Given the description of an element on the screen output the (x, y) to click on. 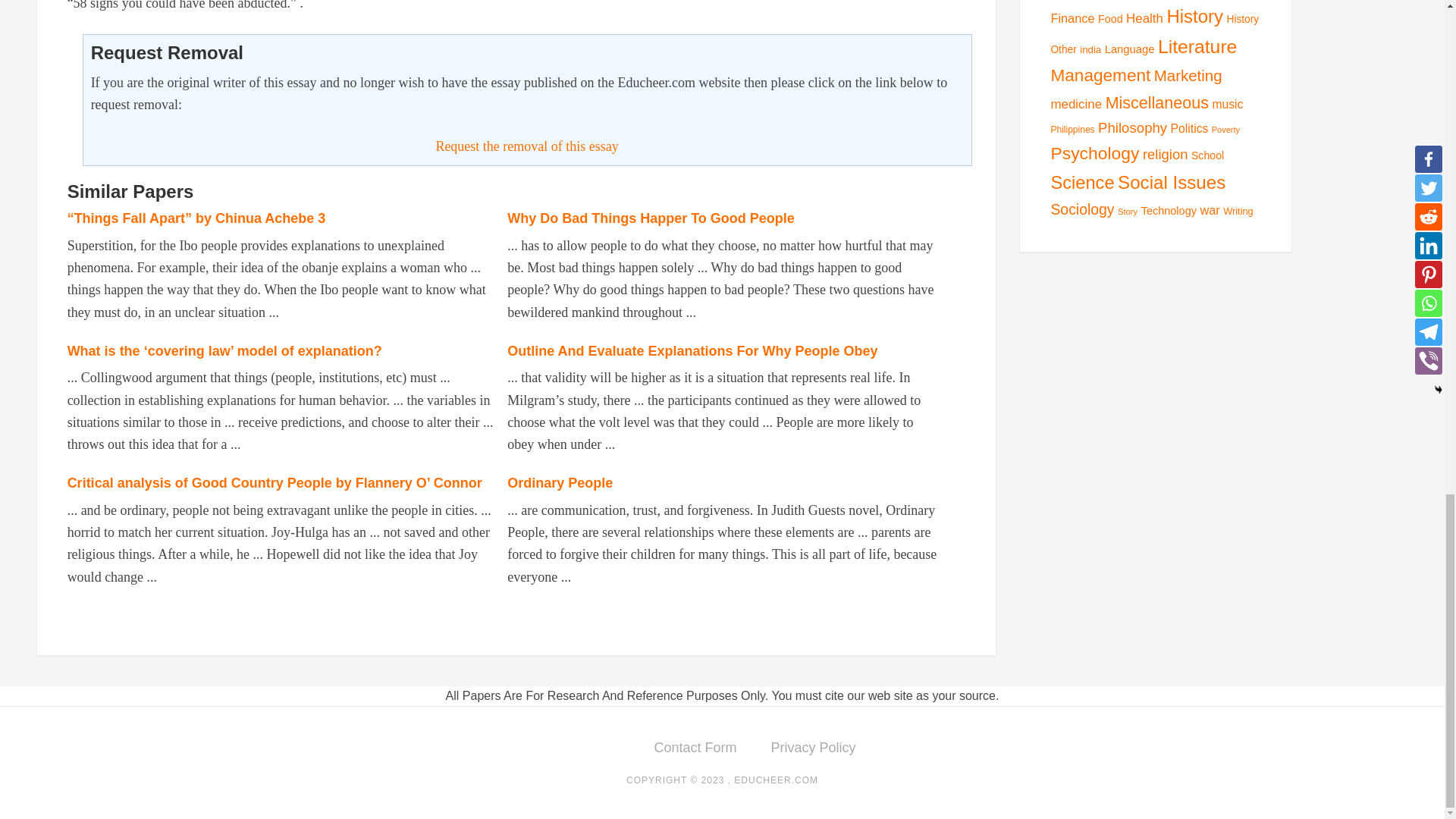
Why Do Bad Things Happer To Good People (650, 218)
Outline And Evaluate Explanations For Why People Obey (691, 350)
Request the removal of this essay (526, 145)
Ordinary People (559, 482)
